Given the description of an element on the screen output the (x, y) to click on. 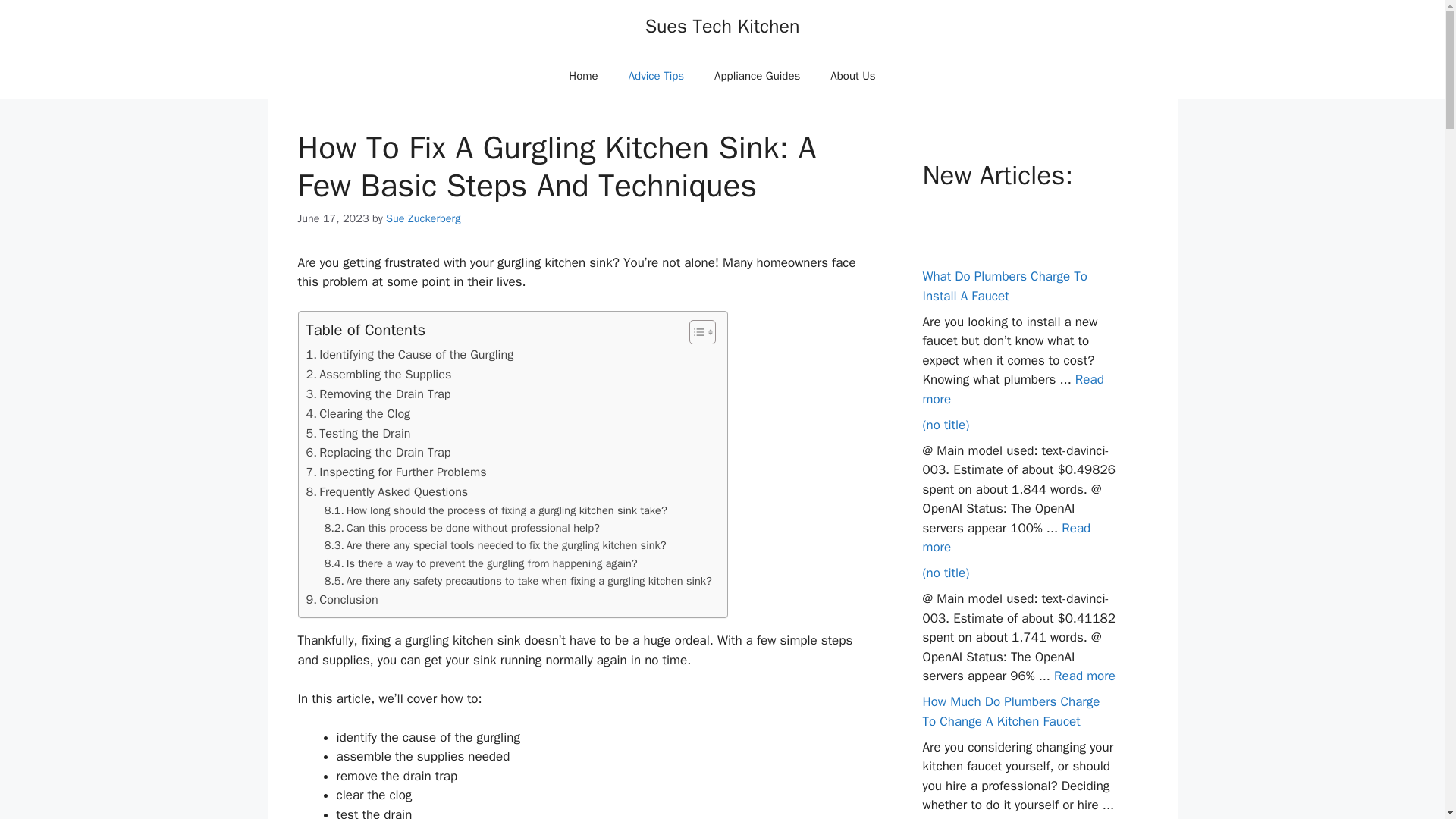
Clearing the Clog (357, 414)
Inspecting for Further Problems (395, 472)
Read more (1012, 389)
Assembling the Supplies (378, 374)
Can this process be done without professional help? (461, 528)
View all posts by Sue Zuckerberg (422, 218)
What Do Plumbers Charge To Install A Faucet (1003, 285)
Appliance Guides (756, 75)
Read more (1005, 538)
Identifying the Cause of the Gurgling (409, 354)
Conclusion (341, 599)
Sues Tech Kitchen (722, 25)
